Given the description of an element on the screen output the (x, y) to click on. 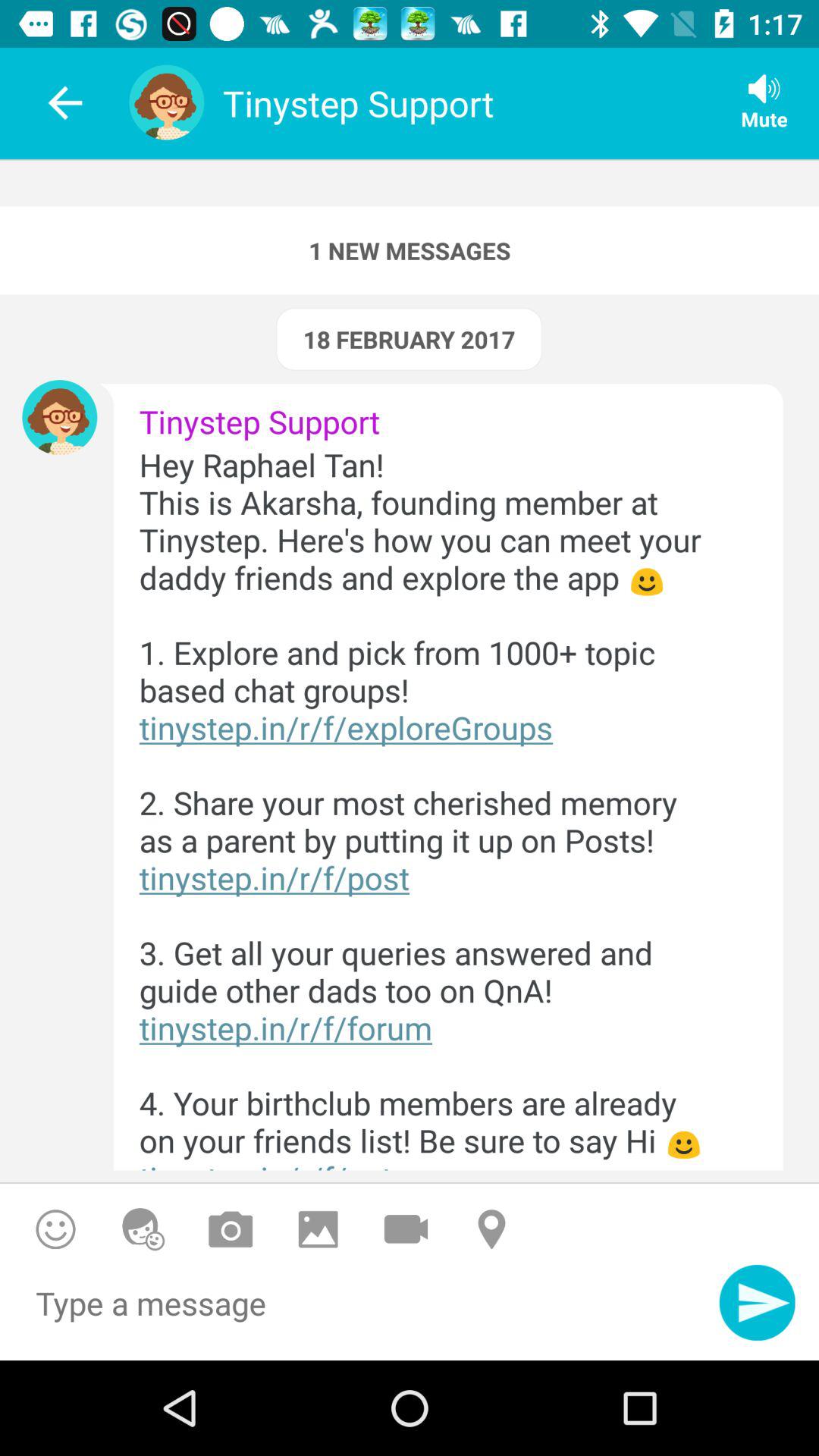
input text (359, 1311)
